Given the description of an element on the screen output the (x, y) to click on. 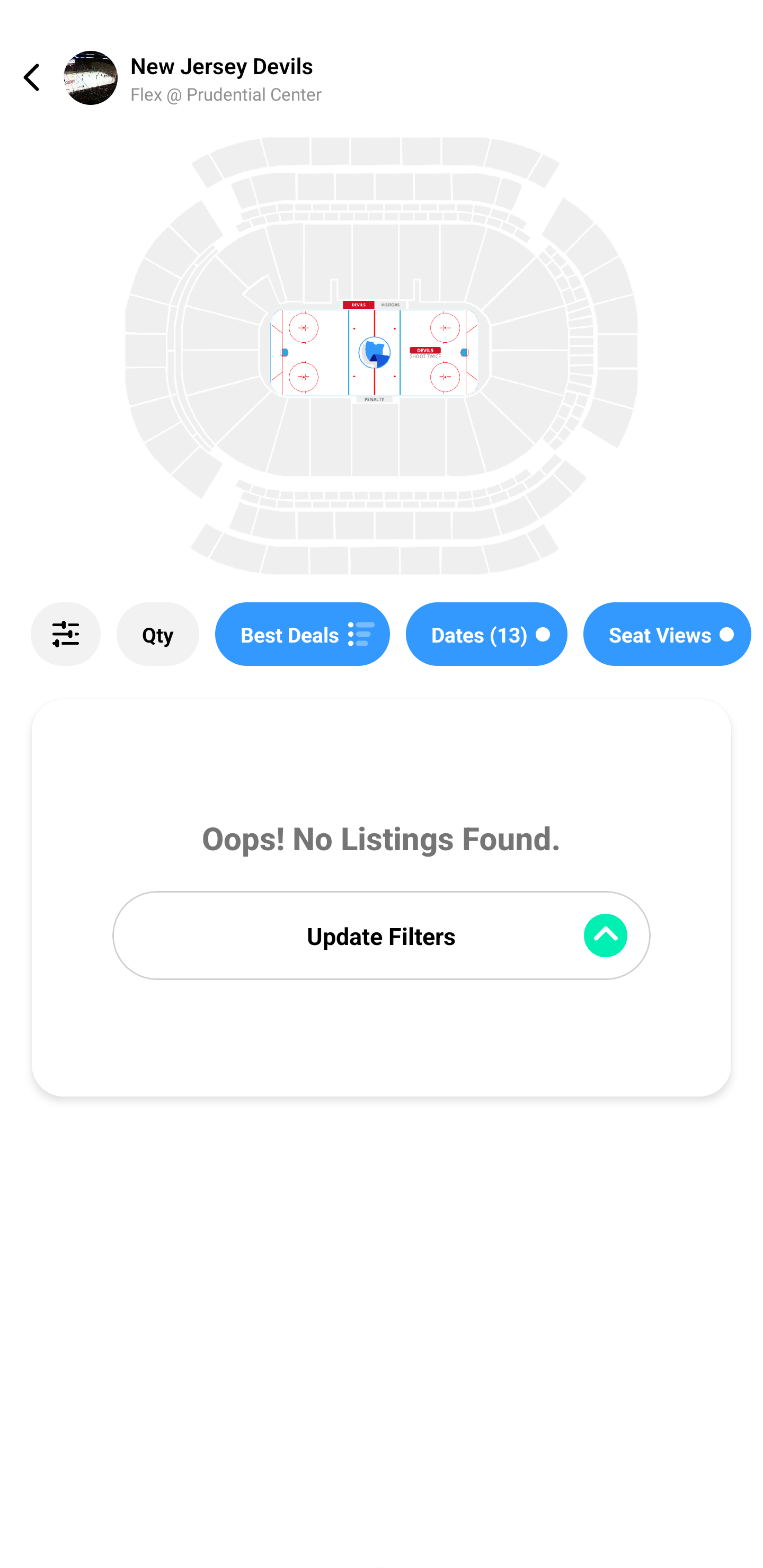
Qty (157, 634)
Best Deals (302, 634)
Dates (13) (486, 634)
Seat Views (667, 634)
Update Filters (381, 935)
